Given the description of an element on the screen output the (x, y) to click on. 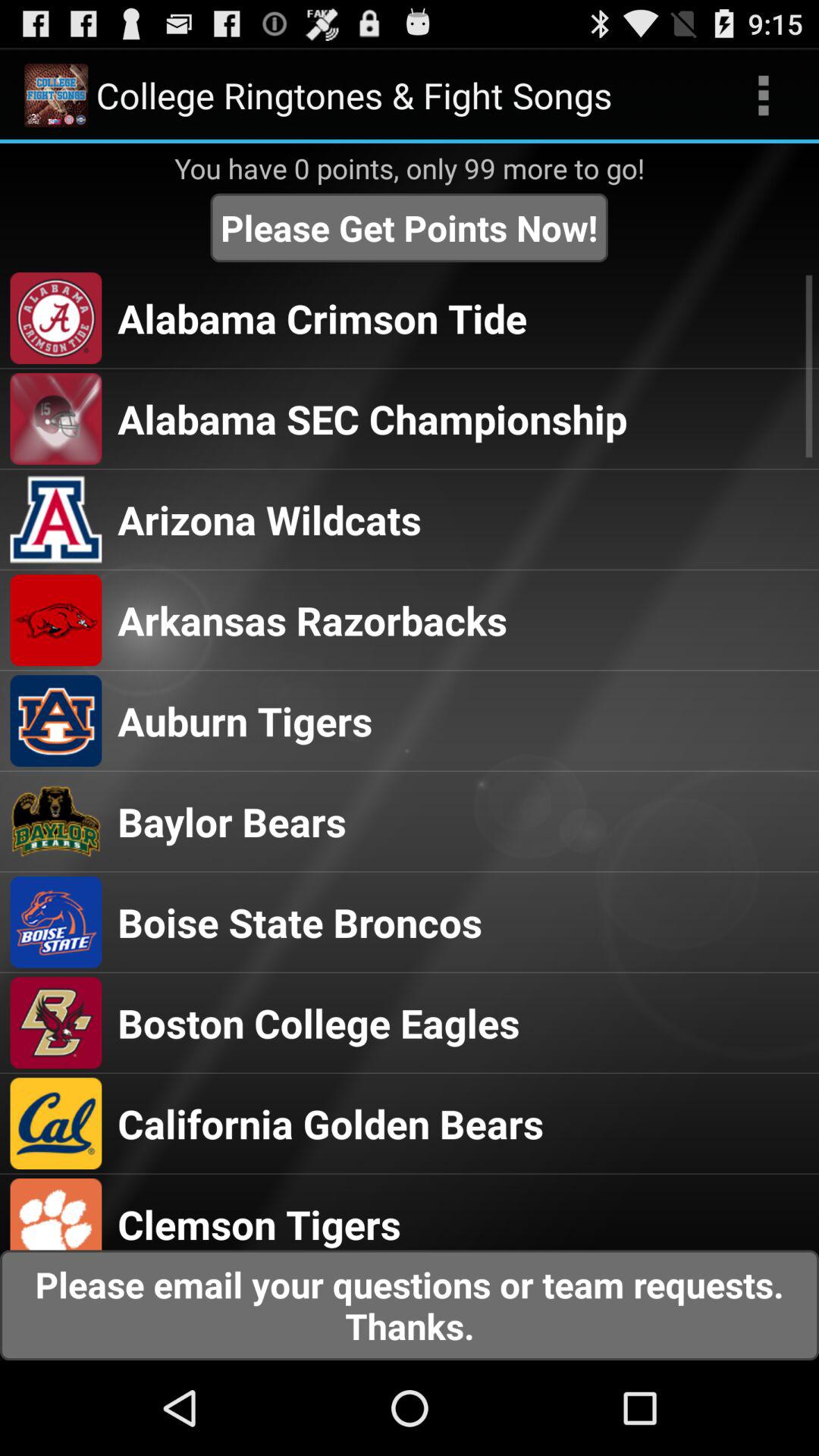
launch the app above the alabama sec championship item (322, 317)
